Given the description of an element on the screen output the (x, y) to click on. 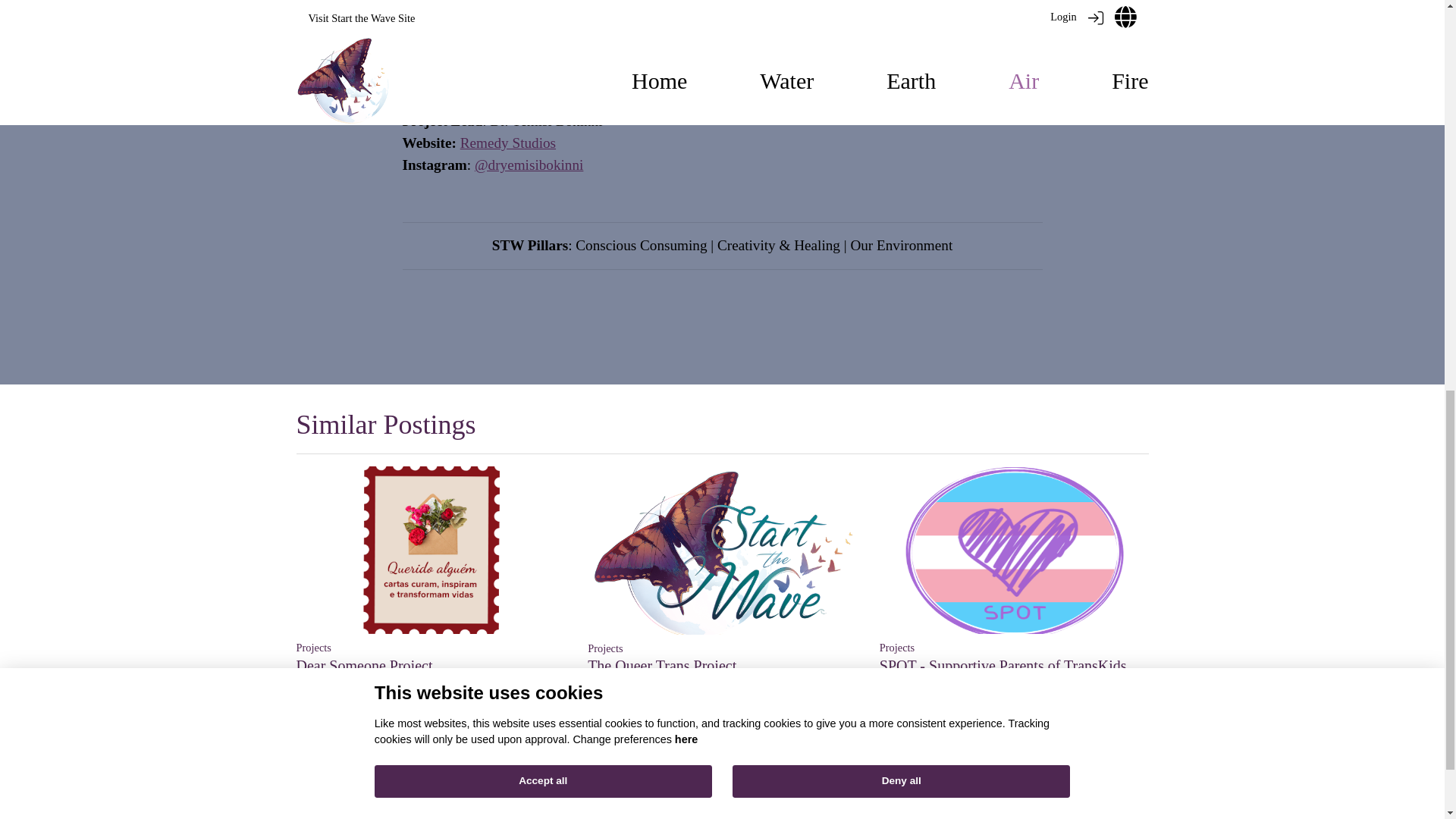
Instagram (715, 796)
